Given the description of an element on the screen output the (x, y) to click on. 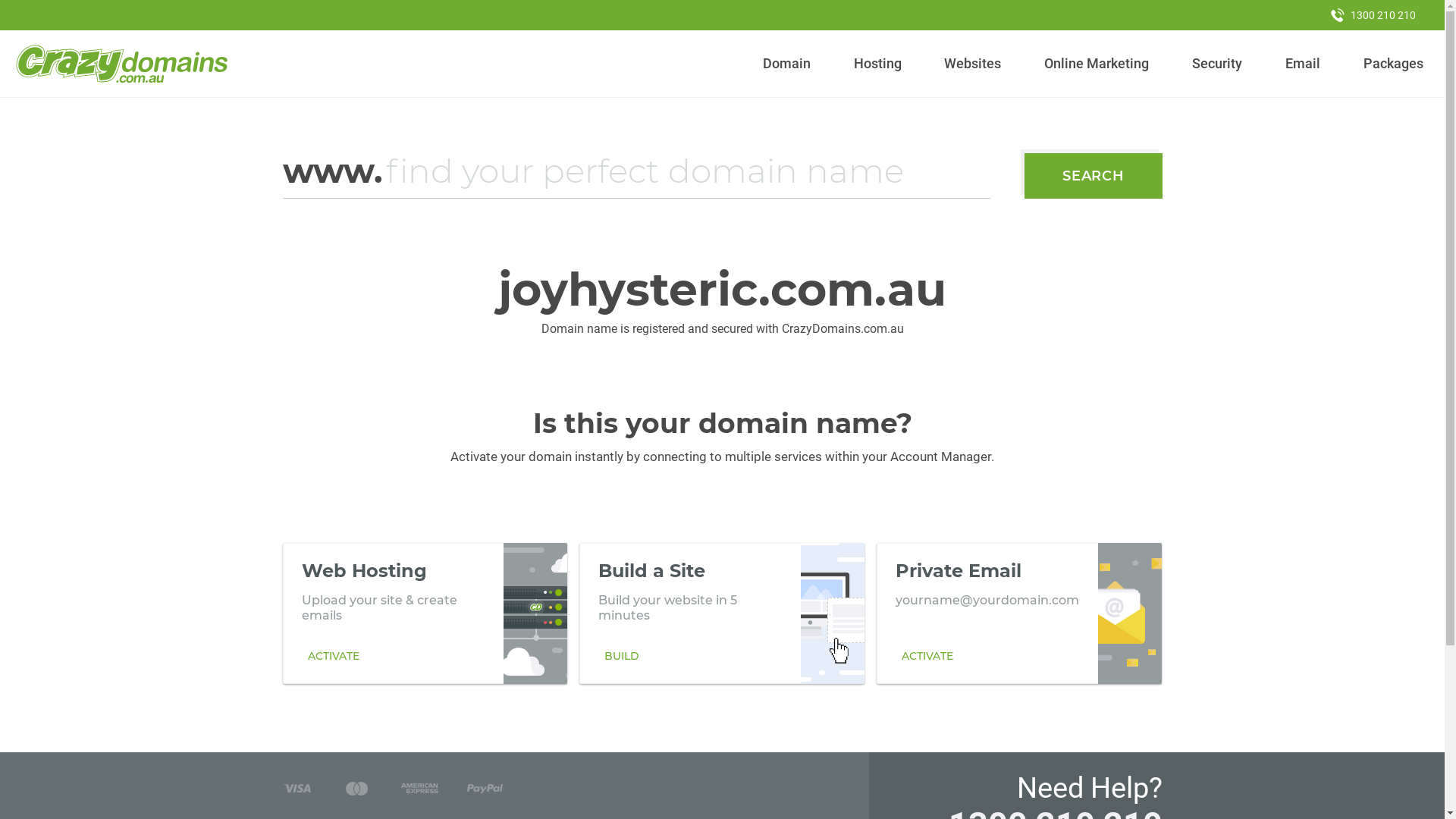
Websites Element type: text (972, 63)
Hosting Element type: text (877, 63)
Web Hosting
Upload your site & create emails
ACTIVATE Element type: text (424, 613)
Online Marketing Element type: text (1096, 63)
Security Element type: text (1217, 63)
Email Element type: text (1302, 63)
Build a Site
Build your website in 5 minutes
BUILD Element type: text (721, 613)
1300 210 210 Element type: text (1373, 15)
SEARCH Element type: text (1092, 175)
Private Email
yourname@yourdomain.com
ACTIVATE Element type: text (1018, 613)
Domain Element type: text (786, 63)
Packages Element type: text (1392, 63)
